Given the description of an element on the screen output the (x, y) to click on. 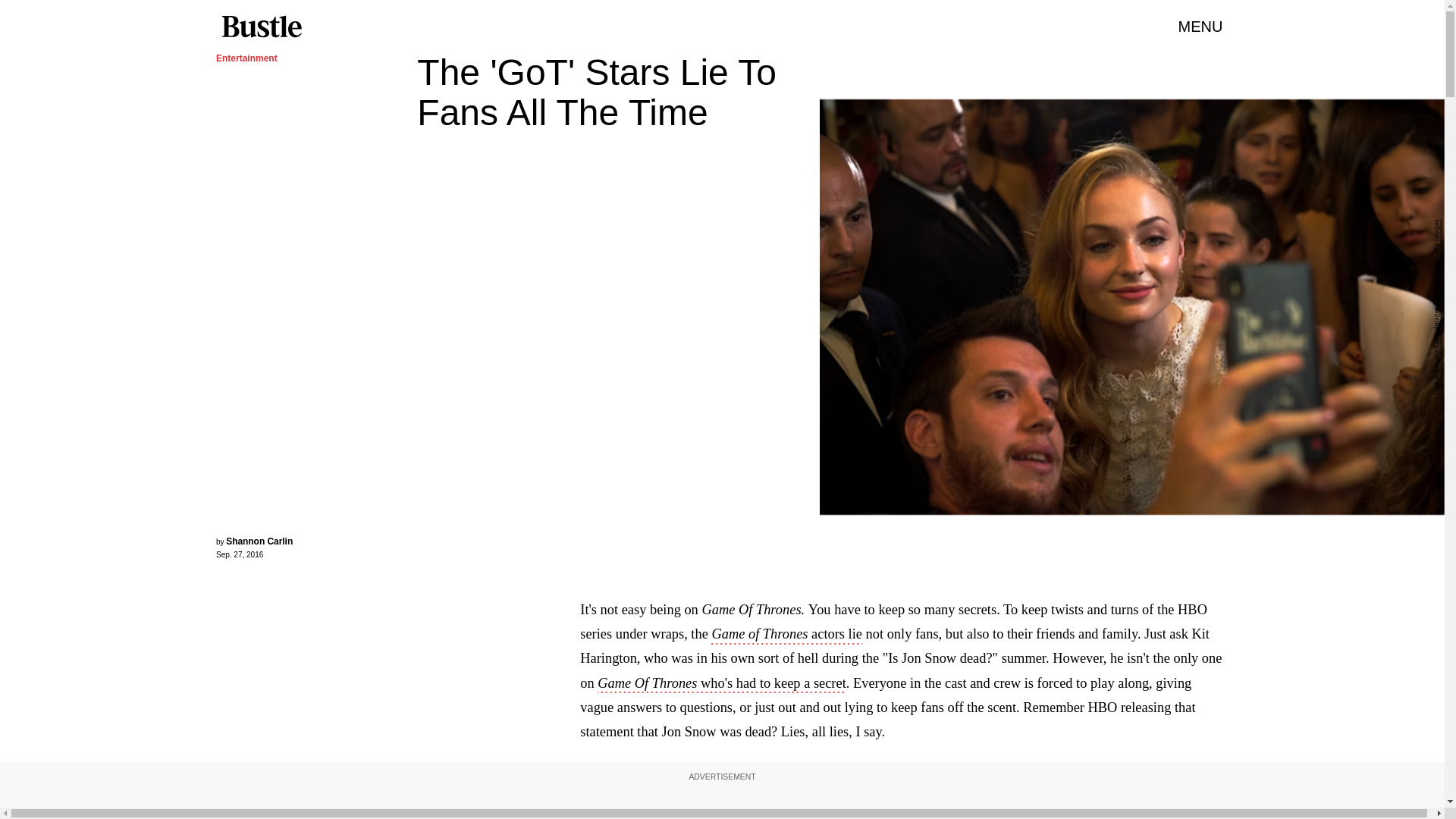
Bustle (261, 26)
Game Of Thrones who's had to keep a secret (720, 684)
Shannon Carlin (258, 541)
Game of Thrones actors lie (786, 635)
